Given the description of an element on the screen output the (x, y) to click on. 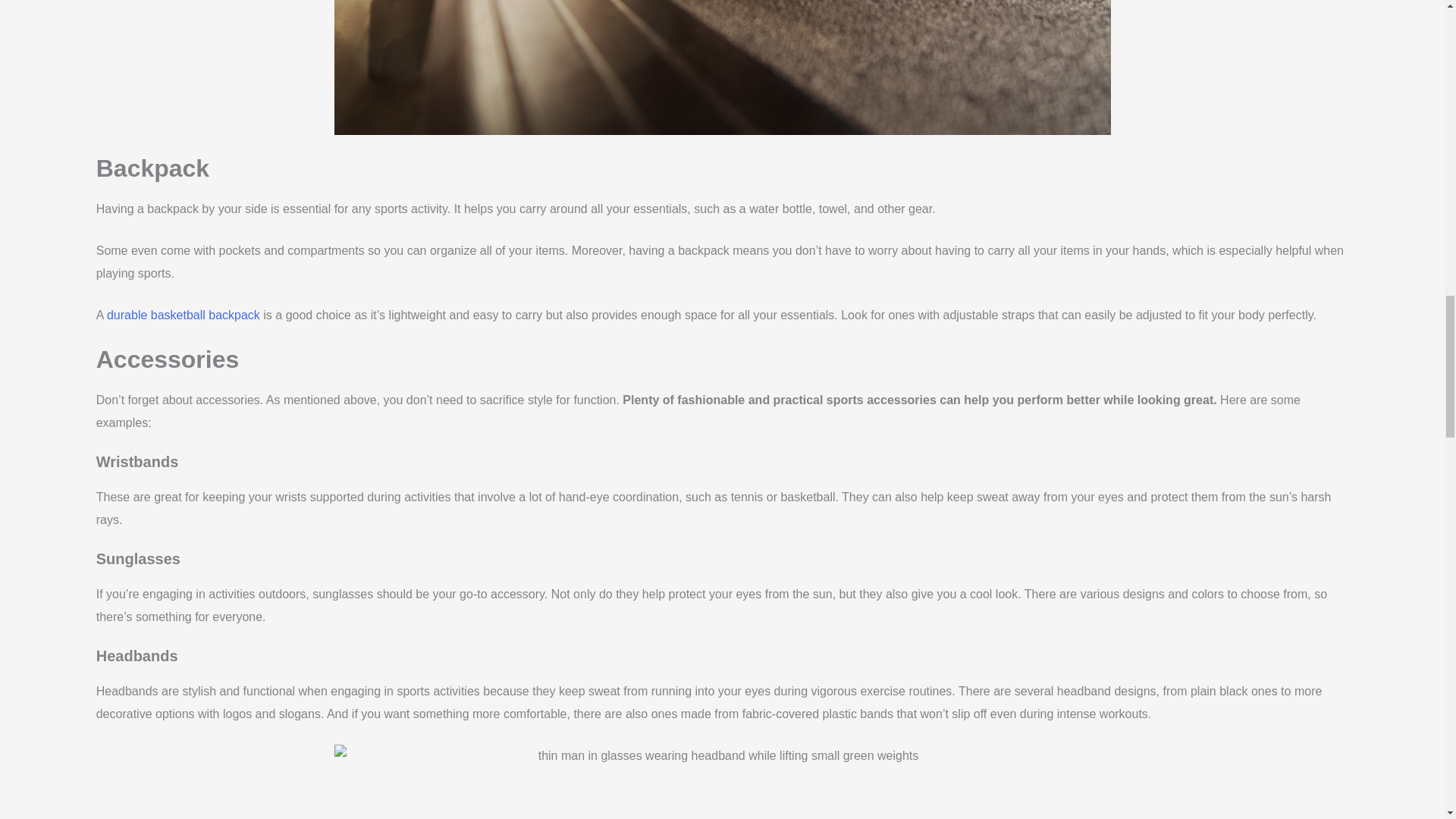
running shoes (721, 67)
durable basketball backpack (183, 314)
headband (721, 781)
